Given the description of an element on the screen output the (x, y) to click on. 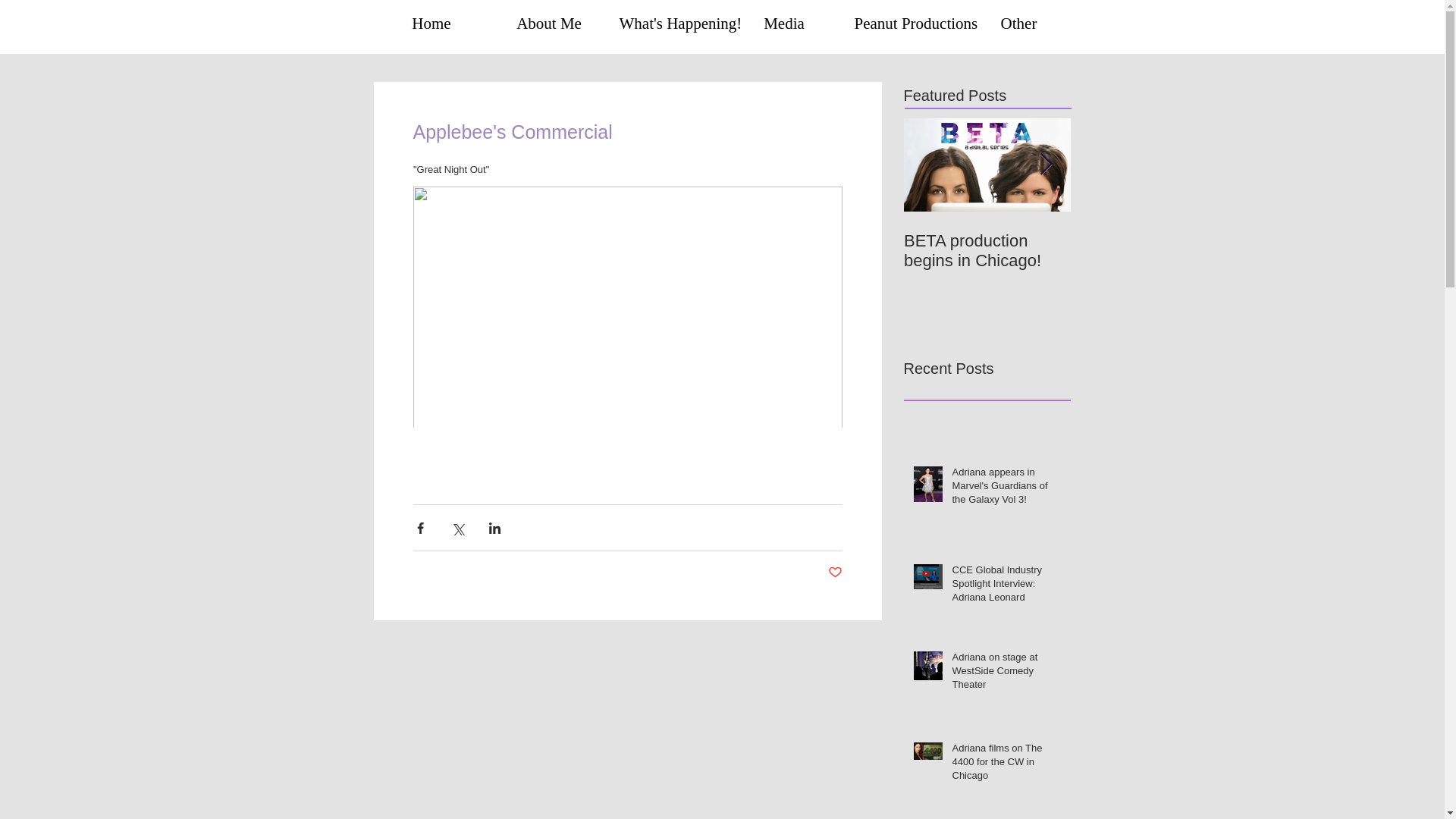
About Me (548, 23)
Adriana appears in Marvel's Guardians of the Galaxy Vol 3! (1006, 489)
Media (784, 23)
Home (431, 23)
What's Happening! (666, 23)
BETA production begins in Chicago! (987, 250)
Adriana on stage at The Greenhouse Theater in Chicago (1153, 260)
Adriana films on The 4400 for the CW in Chicago (1006, 765)
CCE Global Industry Spotlight Interview: Adriana Leonard (1006, 586)
Post not marked as liked (835, 572)
